Given the description of an element on the screen output the (x, y) to click on. 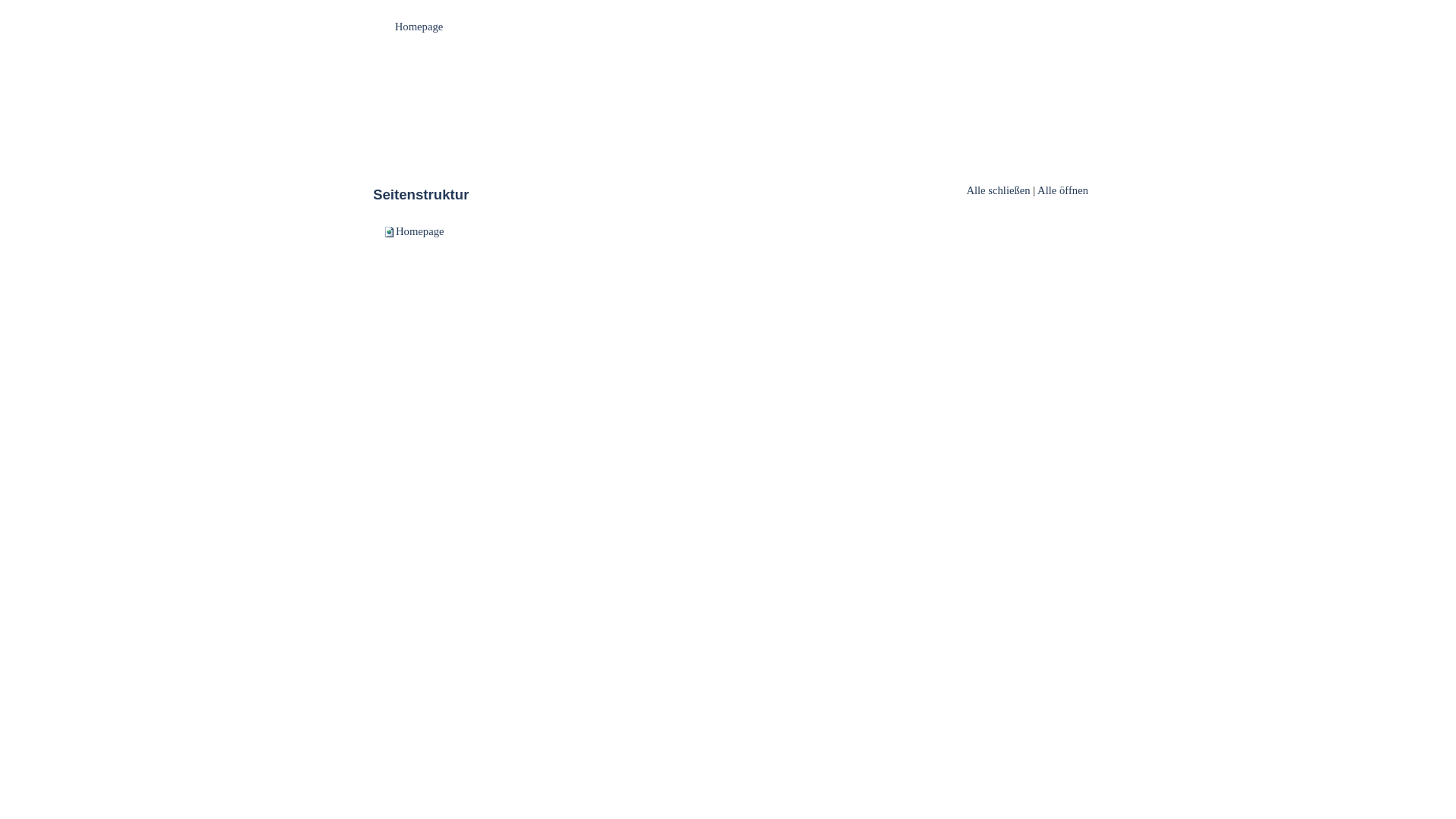
Homepage Element type: text (419, 231)
Homepage Element type: text (420, 26)
